Given the description of an element on the screen output the (x, y) to click on. 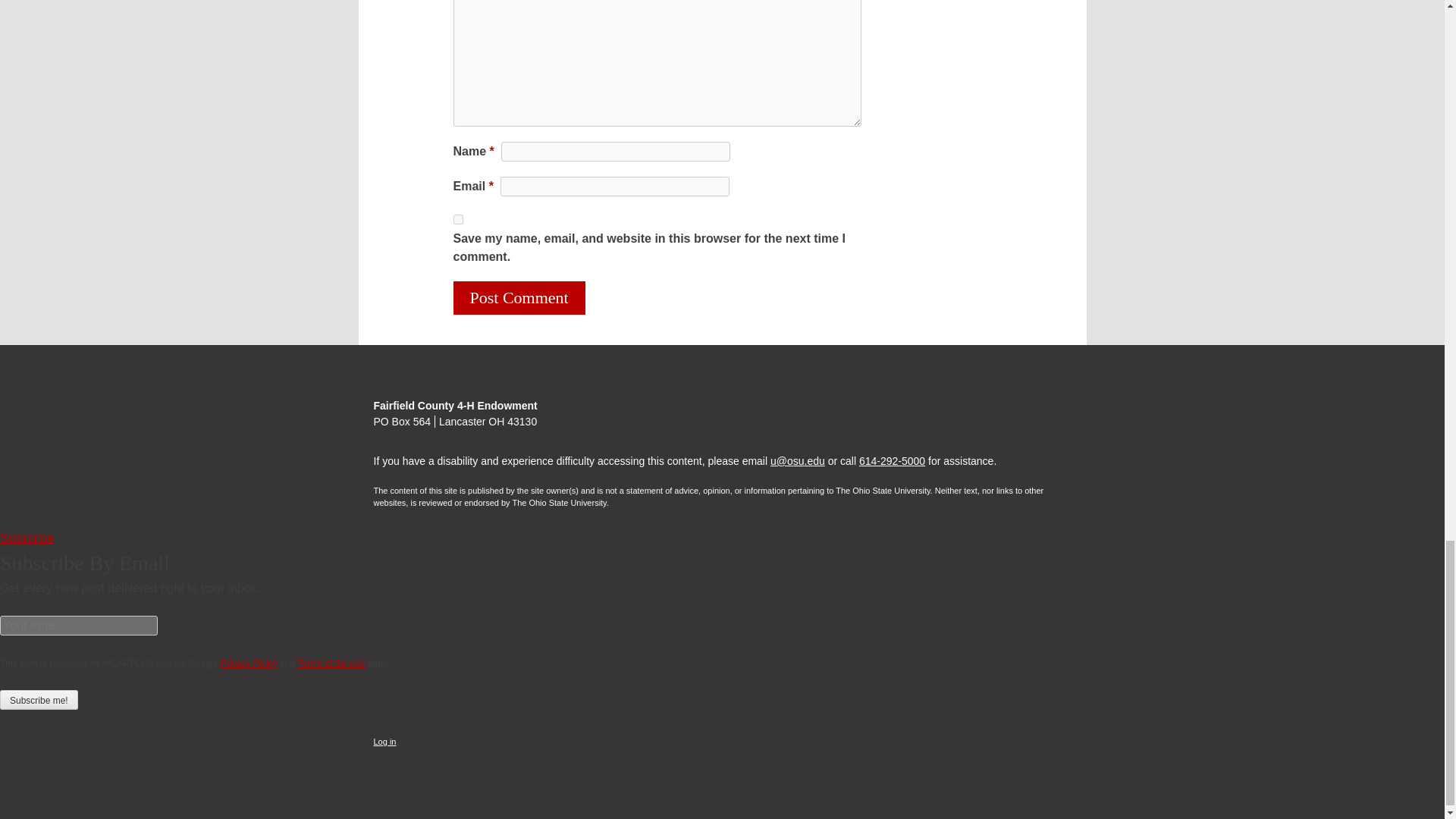
Post Comment (518, 297)
yes (457, 219)
Subscribe me! (39, 700)
Post Comment (518, 297)
